Given the description of an element on the screen output the (x, y) to click on. 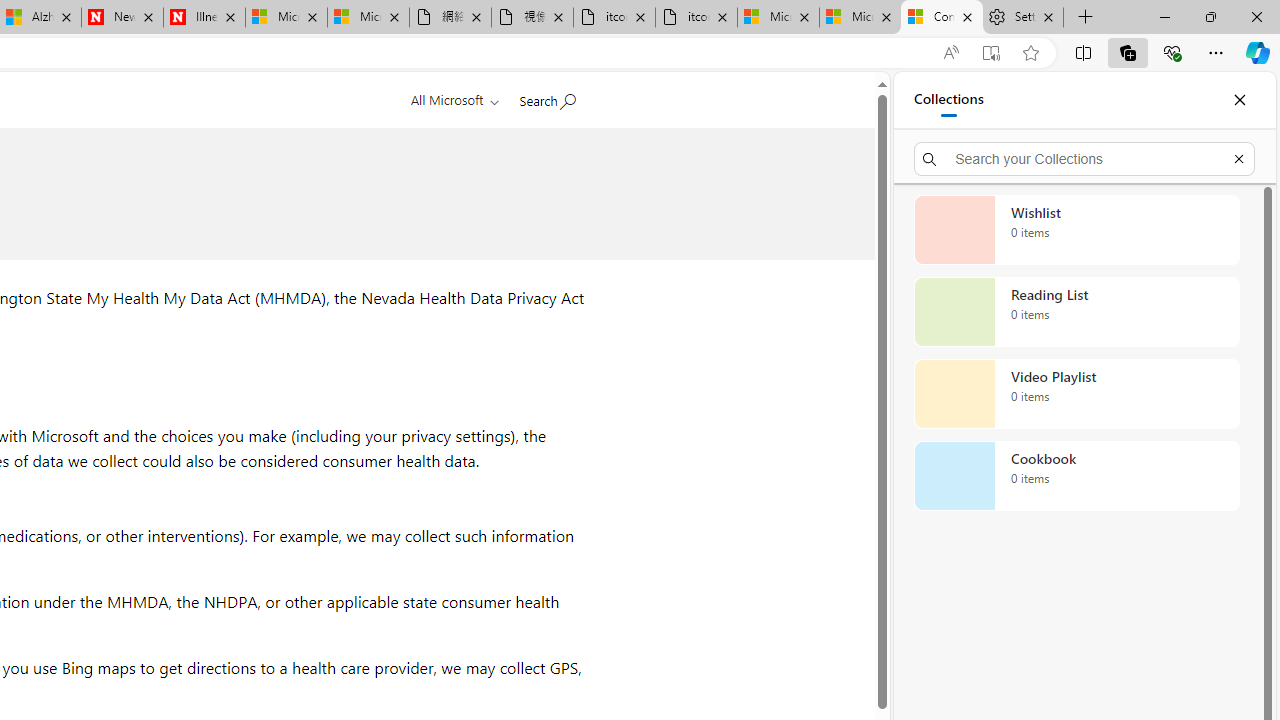
Newsweek - News, Analysis, Politics, Business, Technology (121, 17)
Cookbook collection, 0 items (1076, 475)
Search Microsoft.com (546, 97)
Illness news & latest pictures from Newsweek.com (203, 17)
